Given the description of an element on the screen output the (x, y) to click on. 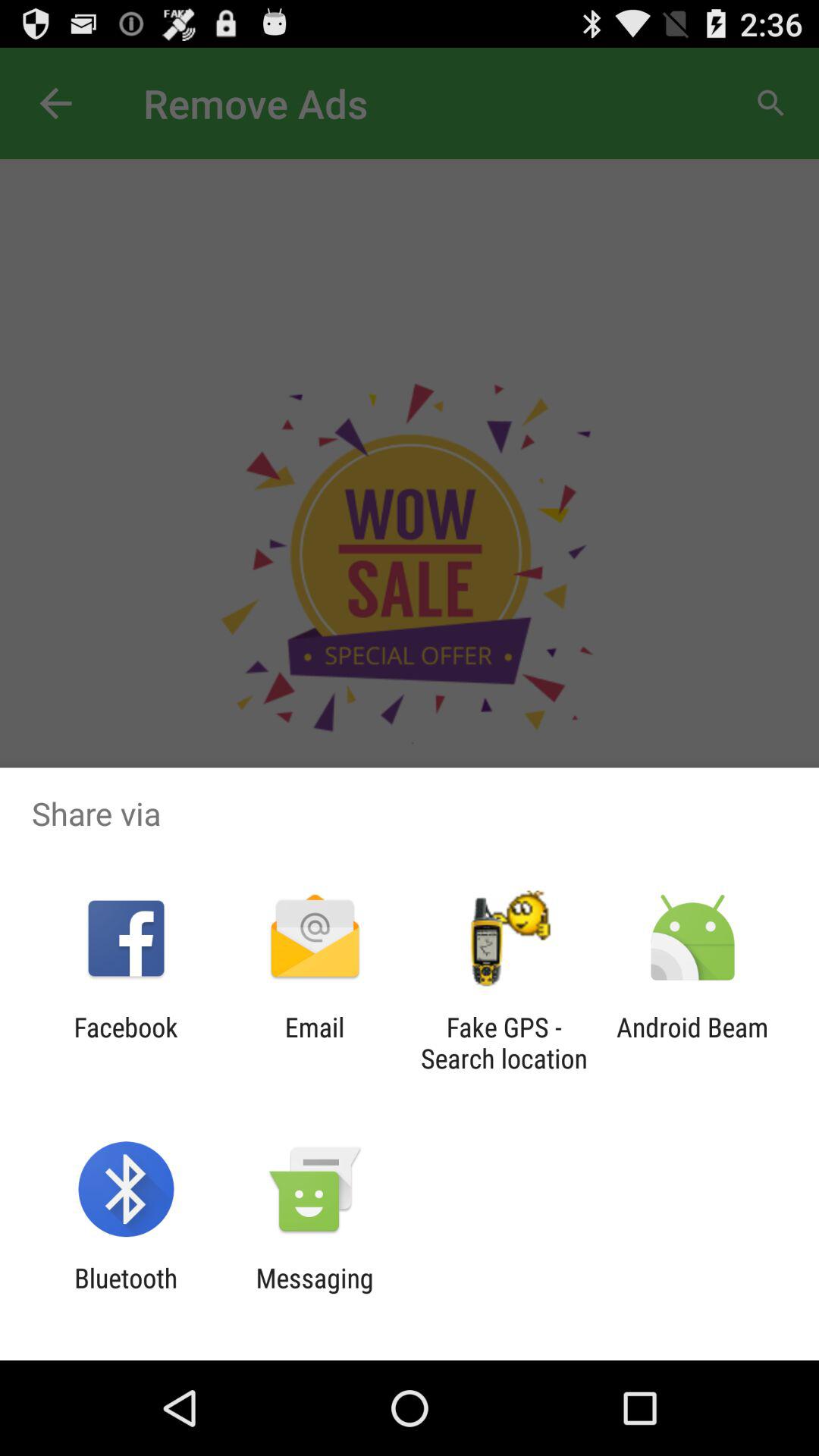
swipe until the messaging icon (314, 1293)
